Given the description of an element on the screen output the (x, y) to click on. 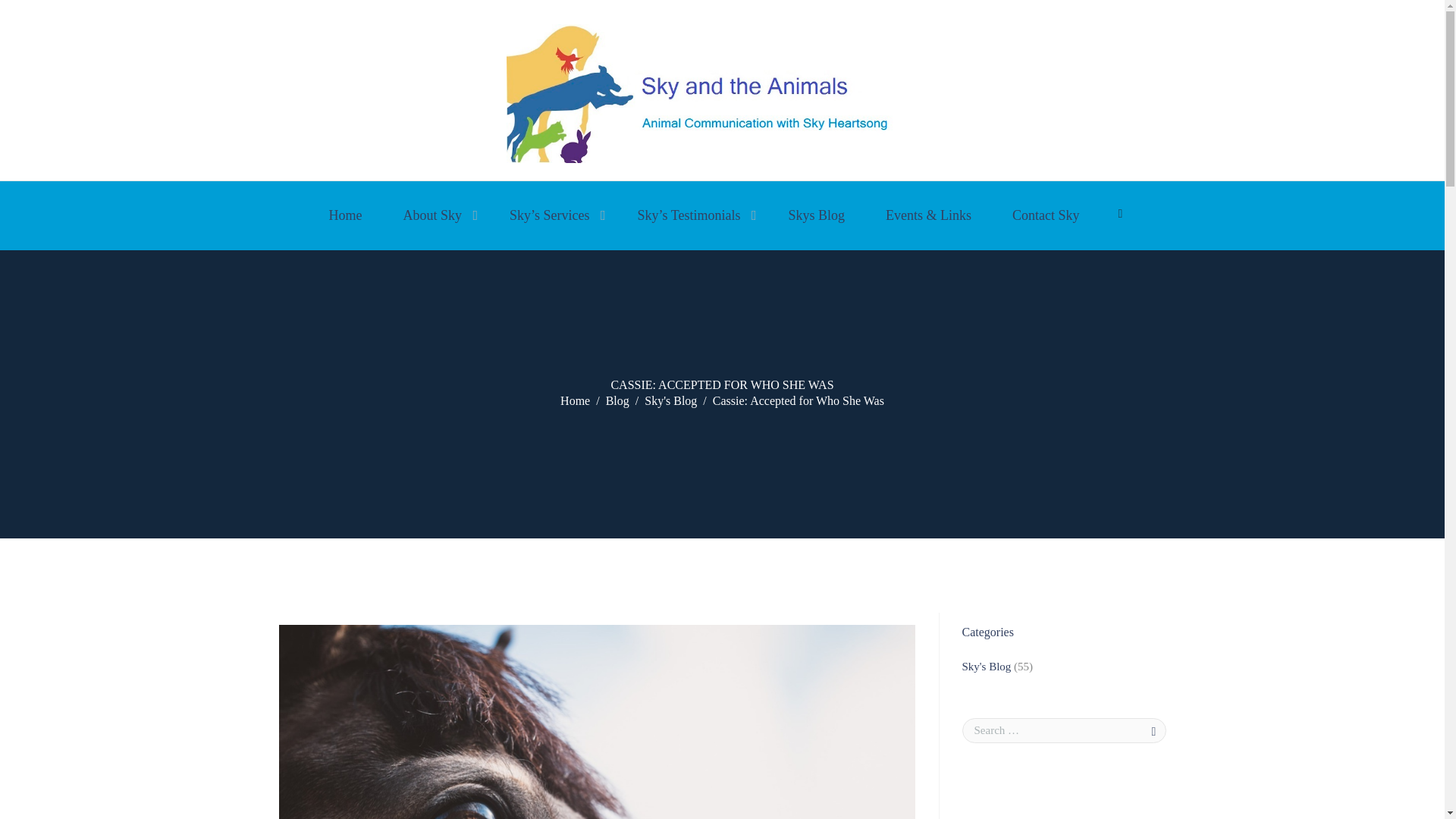
About Sky (435, 215)
Sky's Blog (671, 401)
Home (344, 215)
Skys Blog (815, 215)
Search for: (1063, 730)
Open search (1122, 213)
Home (574, 401)
Contact Sky (1045, 215)
Blog (616, 401)
Cassie: Accepted for Who She Was (597, 721)
